Given the description of an element on the screen output the (x, y) to click on. 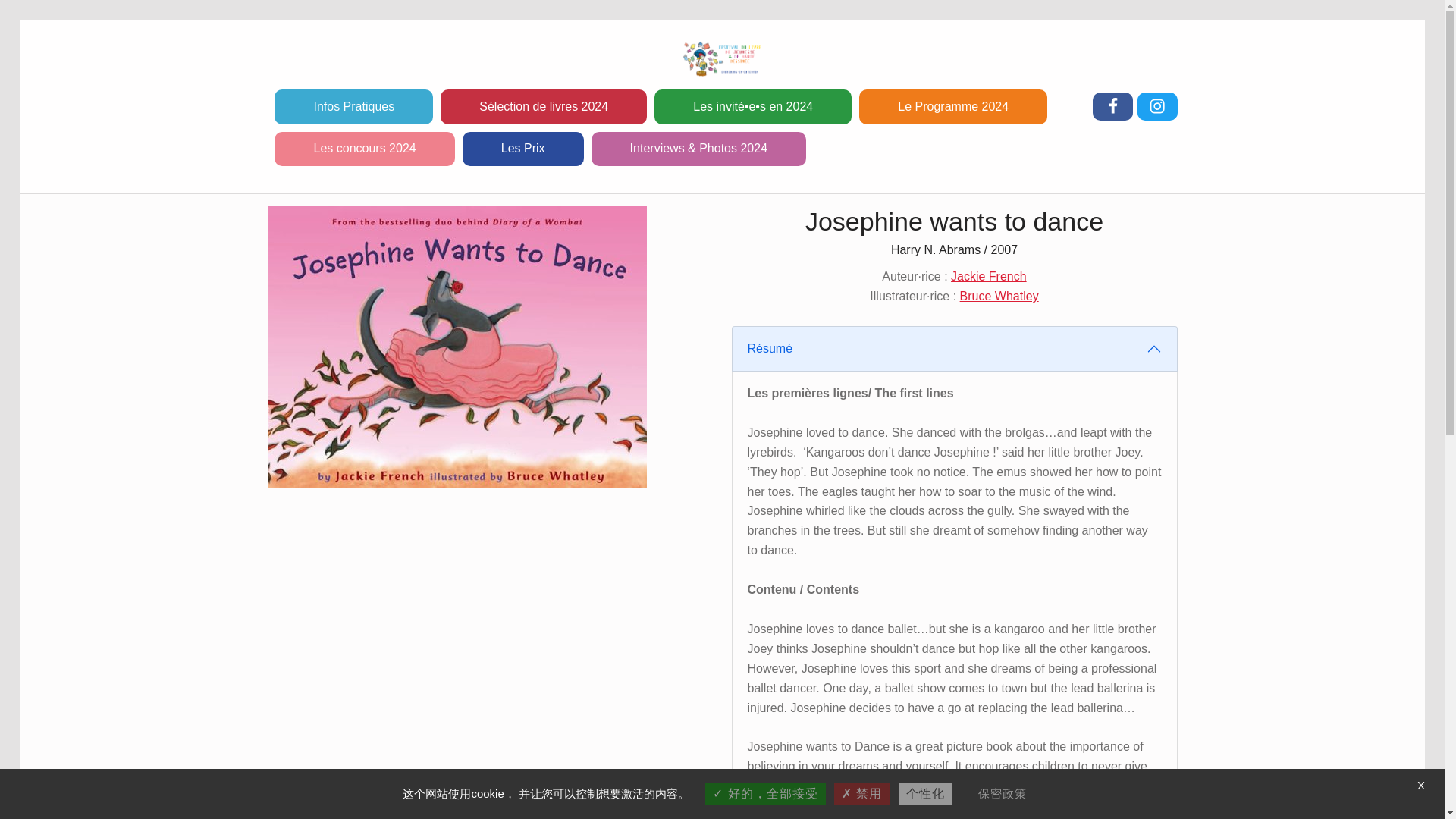
Le Programme 2024 (953, 106)
Bruce Whatley (999, 295)
Les concours 2024 (364, 149)
Les Prix (523, 149)
Jackie French (988, 276)
Infos Pratiques (353, 106)
